Given the description of an element on the screen output the (x, y) to click on. 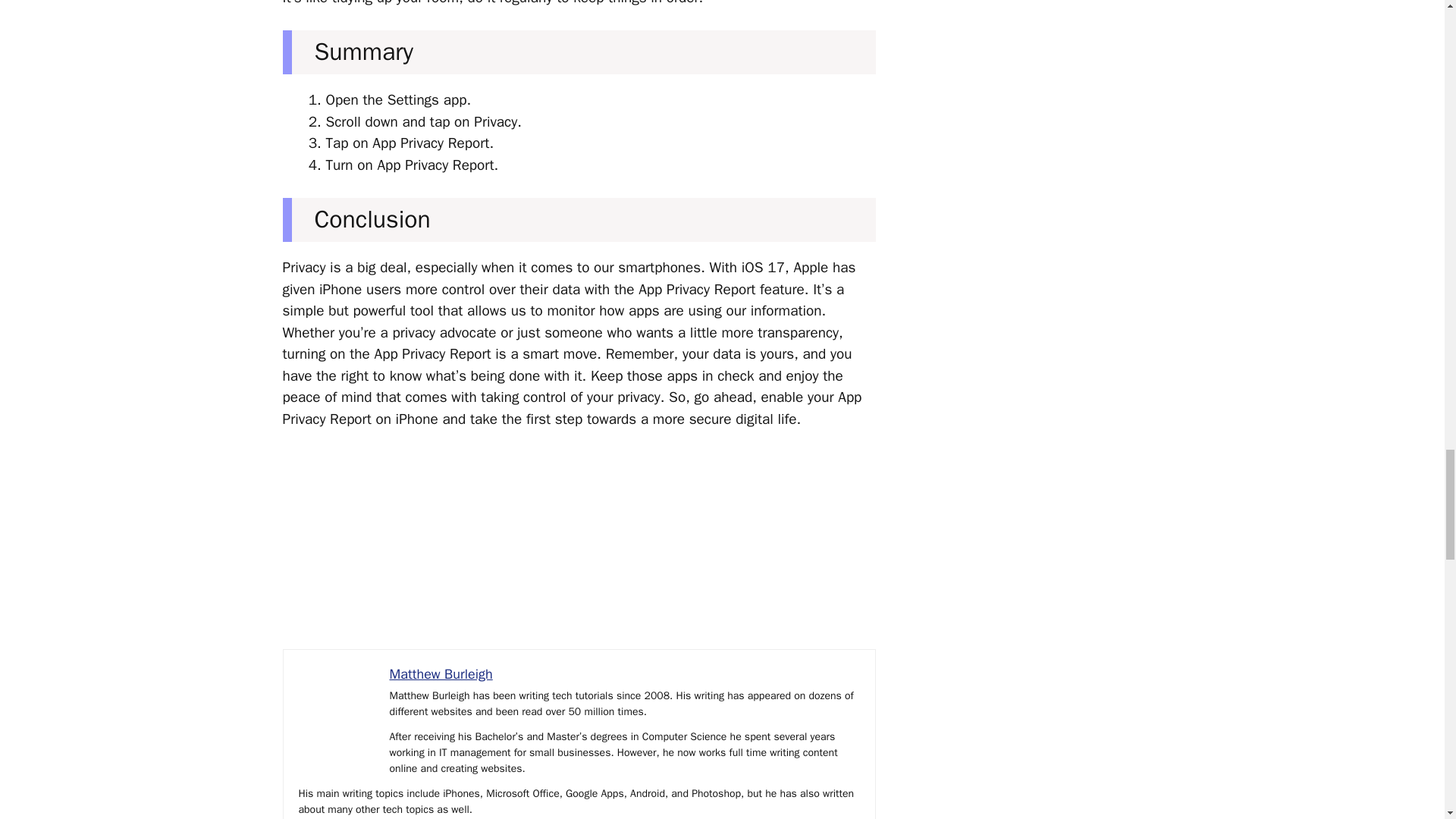
Matthew Burleigh (441, 673)
